Given the description of an element on the screen output the (x, y) to click on. 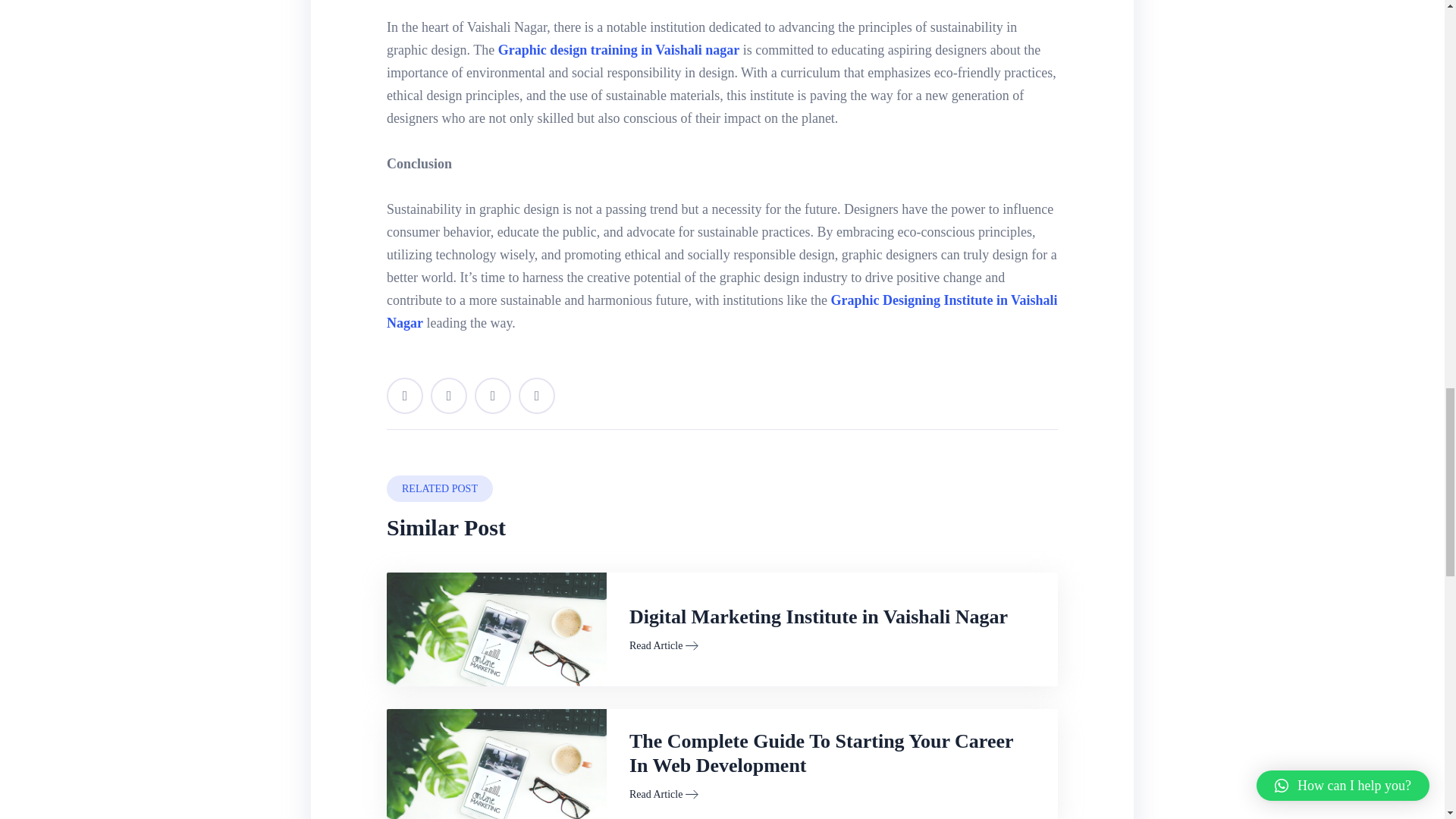
Graphic Designing Institute in Vaishali Nagar (722, 311)
Graphic design training in Vaishali nagar (618, 49)
